Given the description of an element on the screen output the (x, y) to click on. 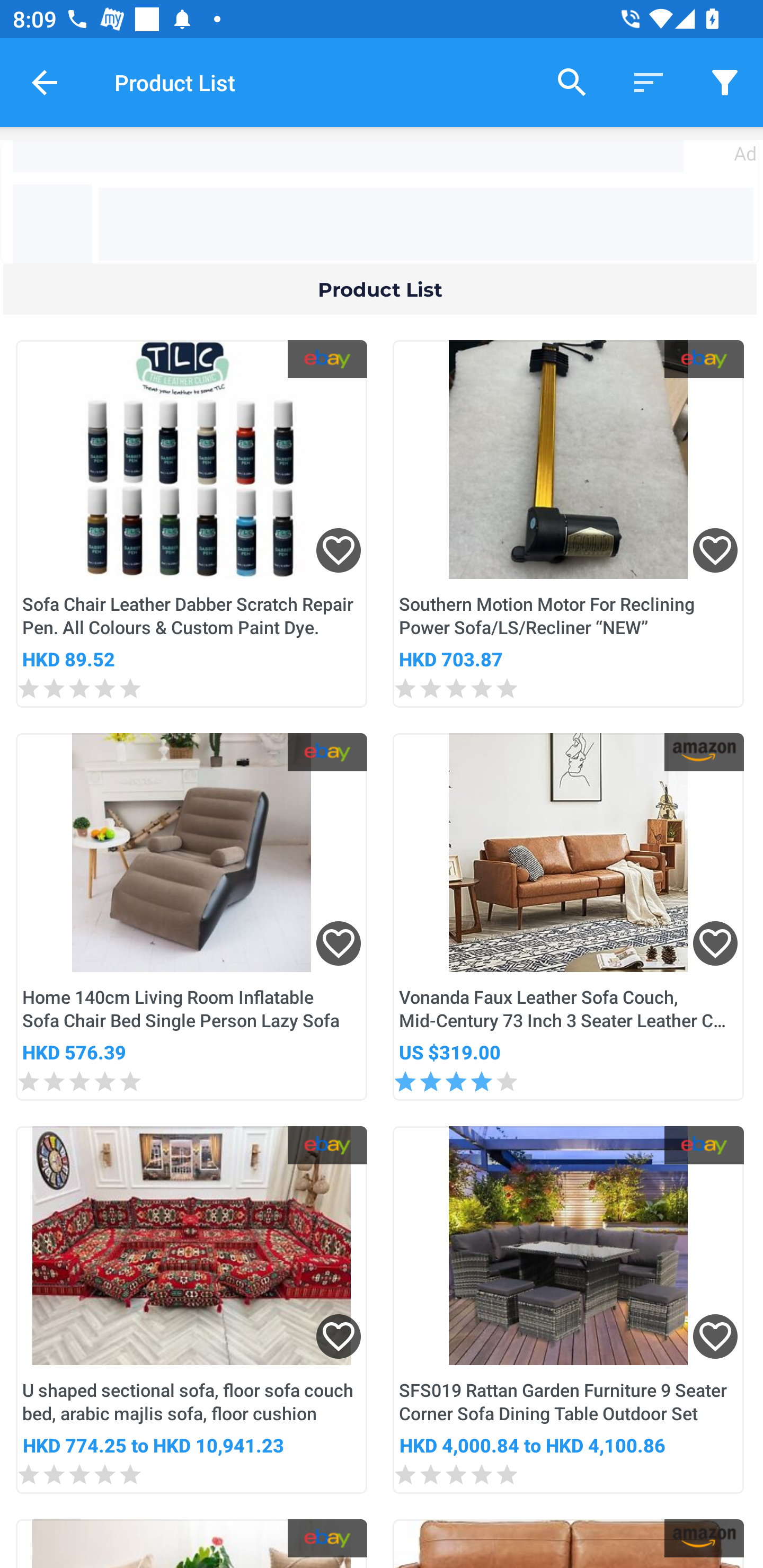
Navigate up (44, 82)
Search (572, 81)
short (648, 81)
short (724, 81)
